Given the description of an element on the screen output the (x, y) to click on. 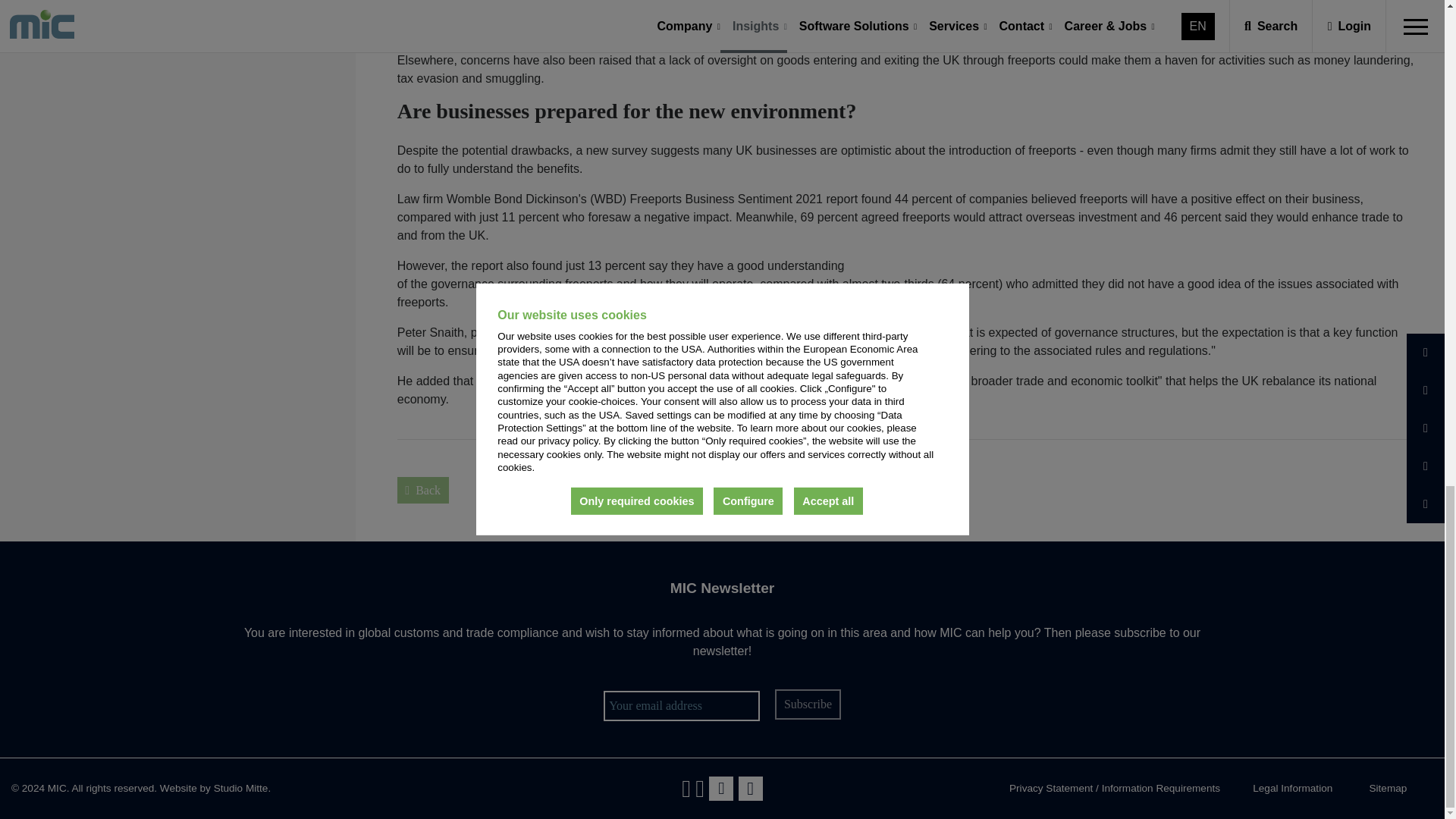
Subscribe (807, 704)
